Given the description of an element on the screen output the (x, y) to click on. 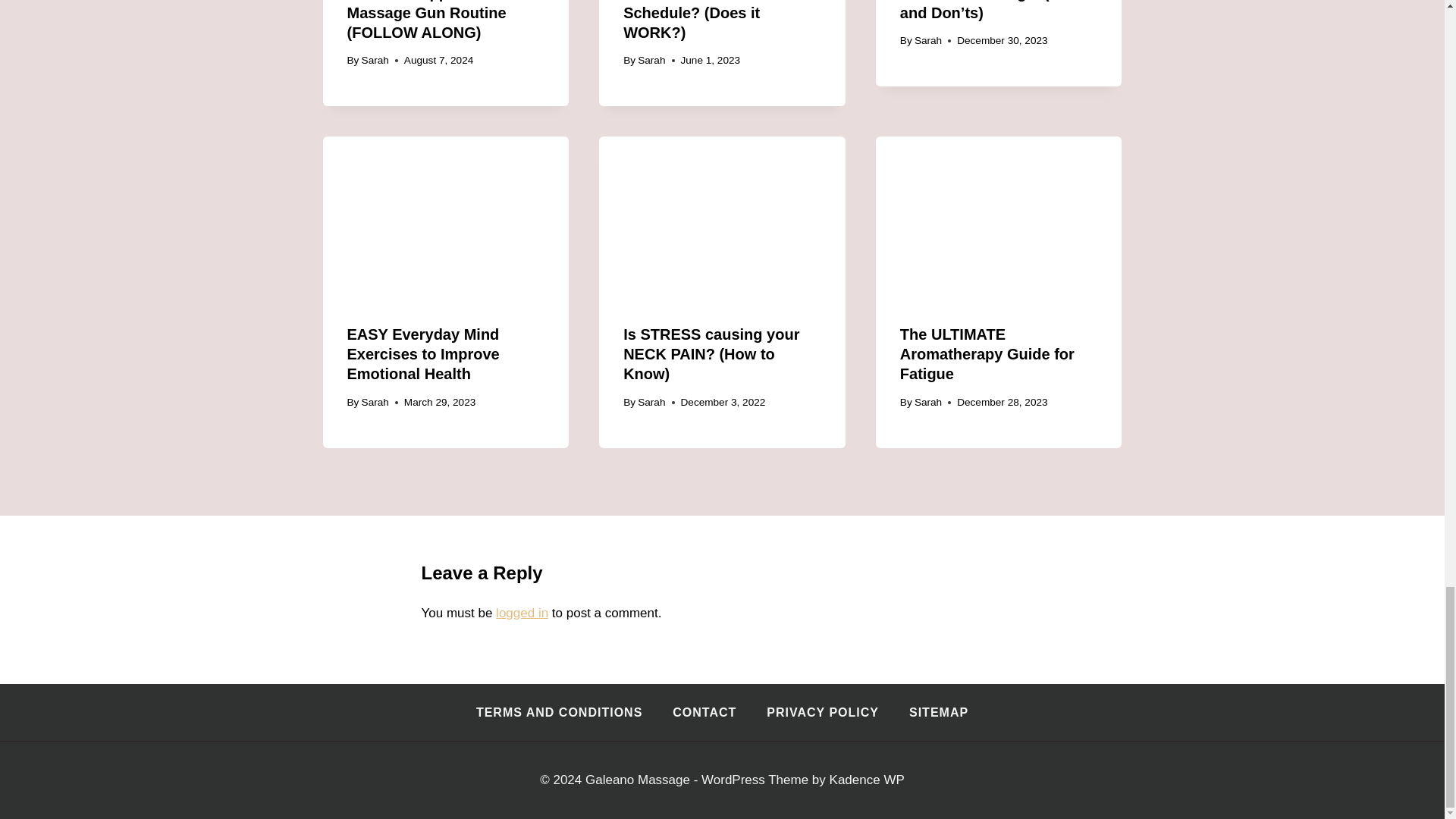
Sarah (651, 60)
Sarah (374, 60)
Sarah (928, 40)
